Given the description of an element on the screen output the (x, y) to click on. 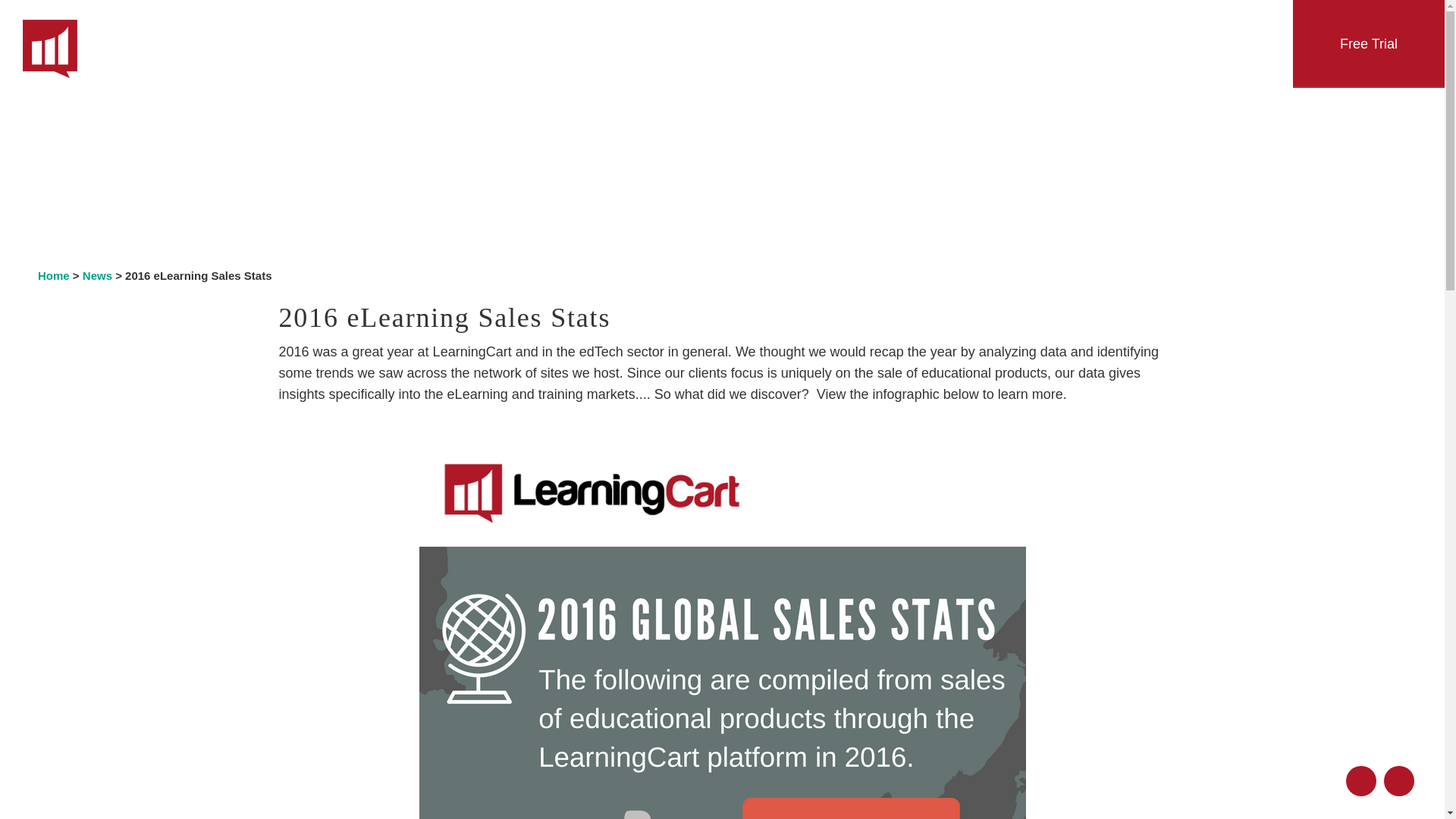
Ecommerce System (727, 221)
System Security (727, 698)
Custom LMS Solutions (727, 785)
Home (53, 275)
News (97, 275)
Features (727, 130)
Blog Engine (727, 508)
